Given the description of an element on the screen output the (x, y) to click on. 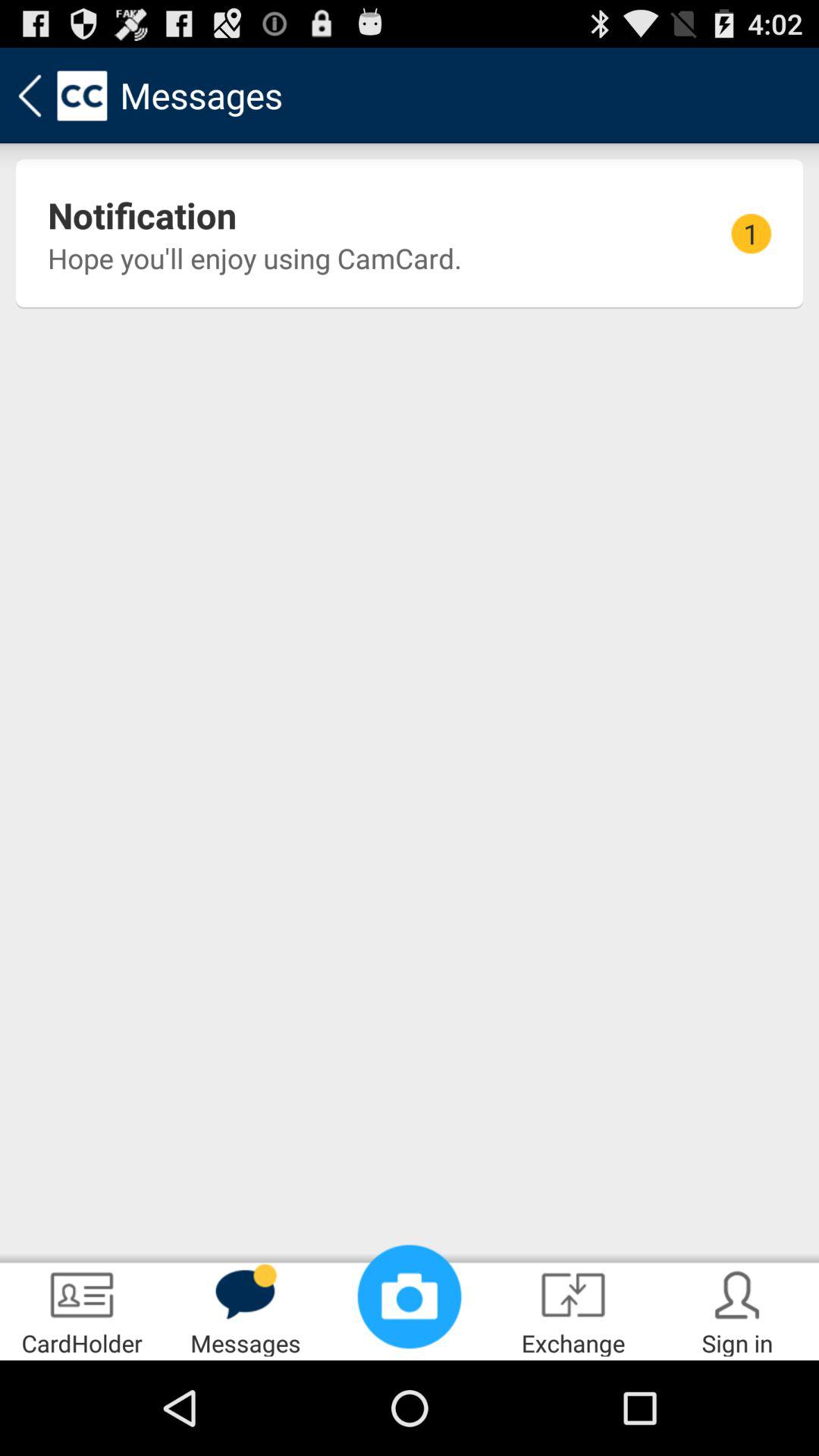
tap app below hope you ll icon (409, 1296)
